Given the description of an element on the screen output the (x, y) to click on. 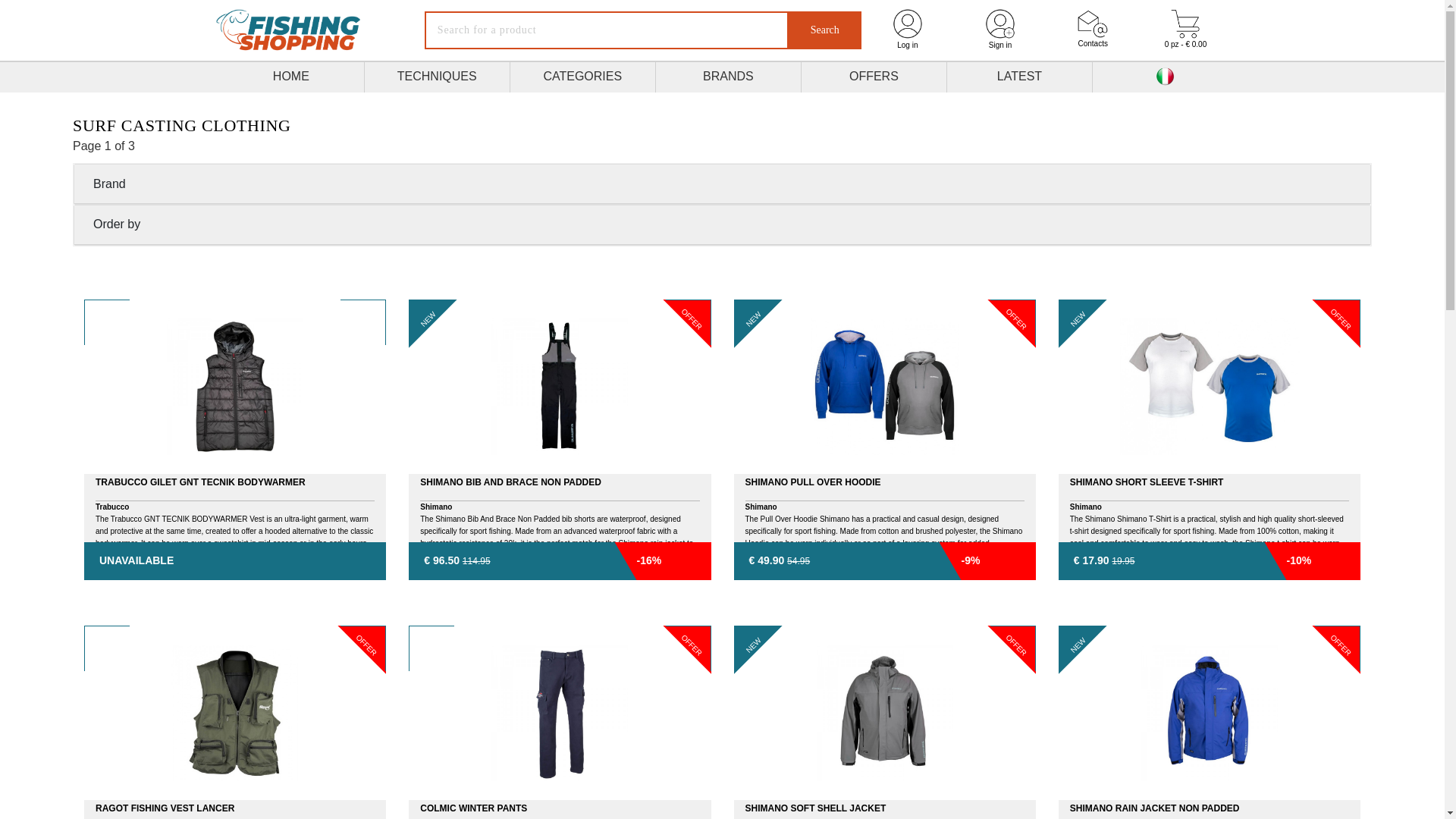
SHIMANO RAIN JACKET NON PADDED (1208, 722)
TRABUCCO GILET GNT TECNIK BODYWARMER (234, 439)
SHIMANO SHORT SLEEVE T-SHIRT (1208, 439)
Categories (582, 77)
COLMIC WINTER PANTS (559, 722)
SHIMANO BIB AND BRACE NON PADDED (559, 439)
Search (825, 30)
TECHNIQUES (437, 77)
RAGOT FISHING VEST LANCER (234, 722)
SHIMANO SOFT SHELL JACKET (884, 722)
